Given the description of an element on the screen output the (x, y) to click on. 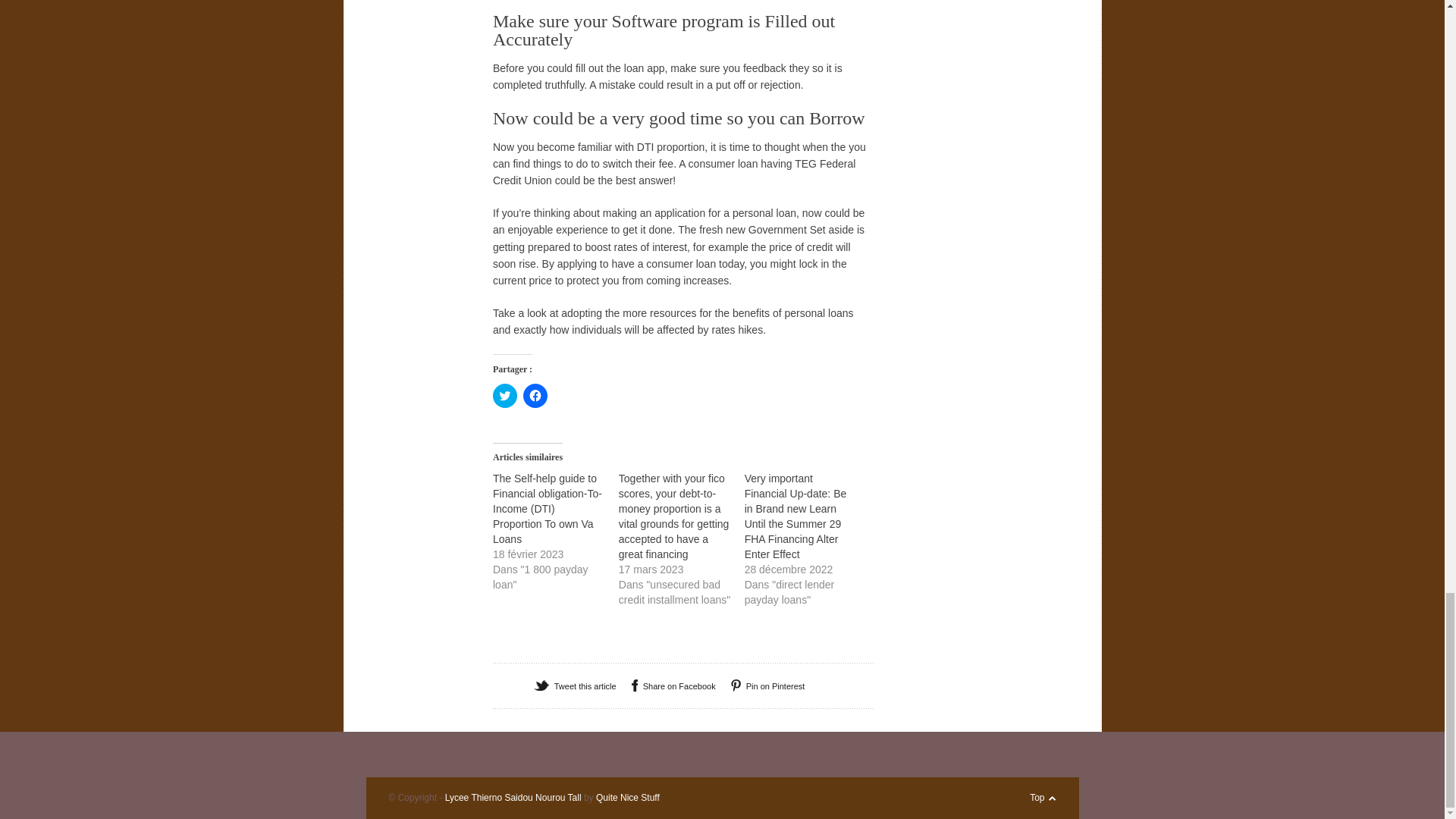
Cliquez pour partager sur Twitter (504, 395)
Top (1036, 797)
Cliquez pour partager sur Facebook (534, 395)
